Given the description of an element on the screen output the (x, y) to click on. 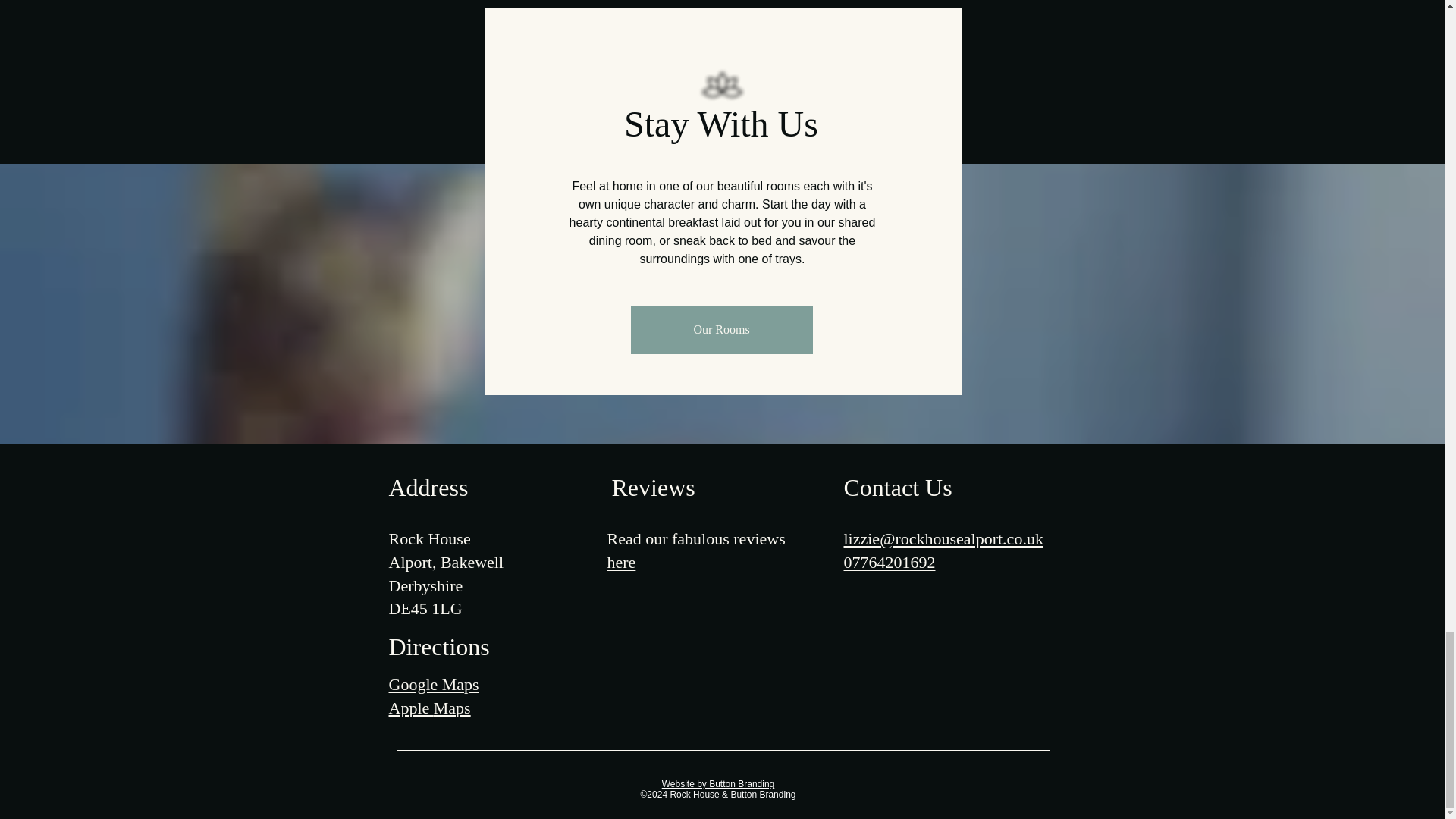
Alport, Bakewell (445, 561)
Read our fabulous reviews (695, 538)
DE45 1LG (424, 608)
Derbyshire (425, 585)
here (620, 561)
Rock House (429, 538)
Website by Button Branding (718, 783)
Google Maps (433, 683)
Apple Maps (429, 707)
07764201692 (888, 561)
